Given the description of an element on the screen output the (x, y) to click on. 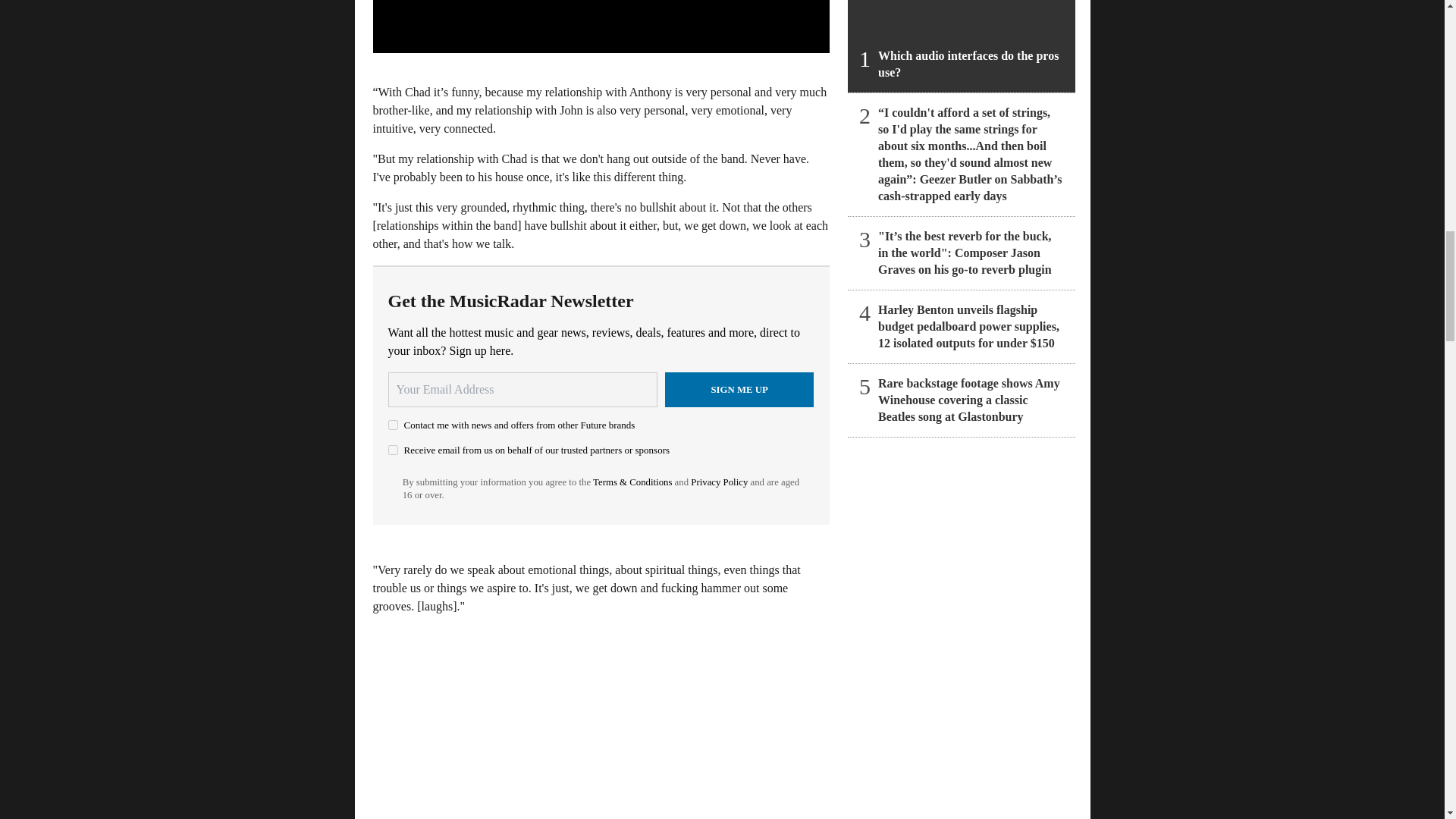
on (392, 450)
on (392, 424)
Which audio interfaces do the pros use? (961, 46)
Sign me up (739, 389)
